Given the description of an element on the screen output the (x, y) to click on. 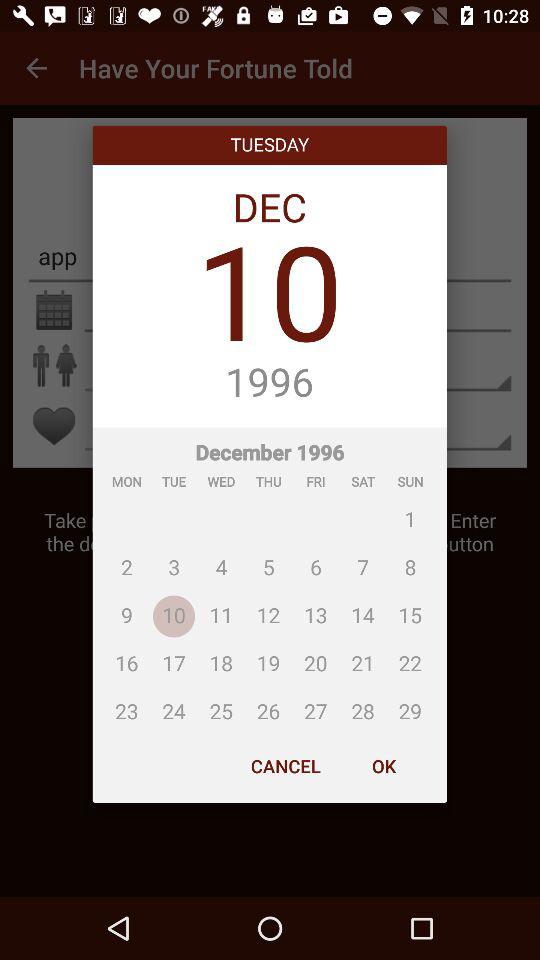
turn off icon next to the ok icon (285, 765)
